Given the description of an element on the screen output the (x, y) to click on. 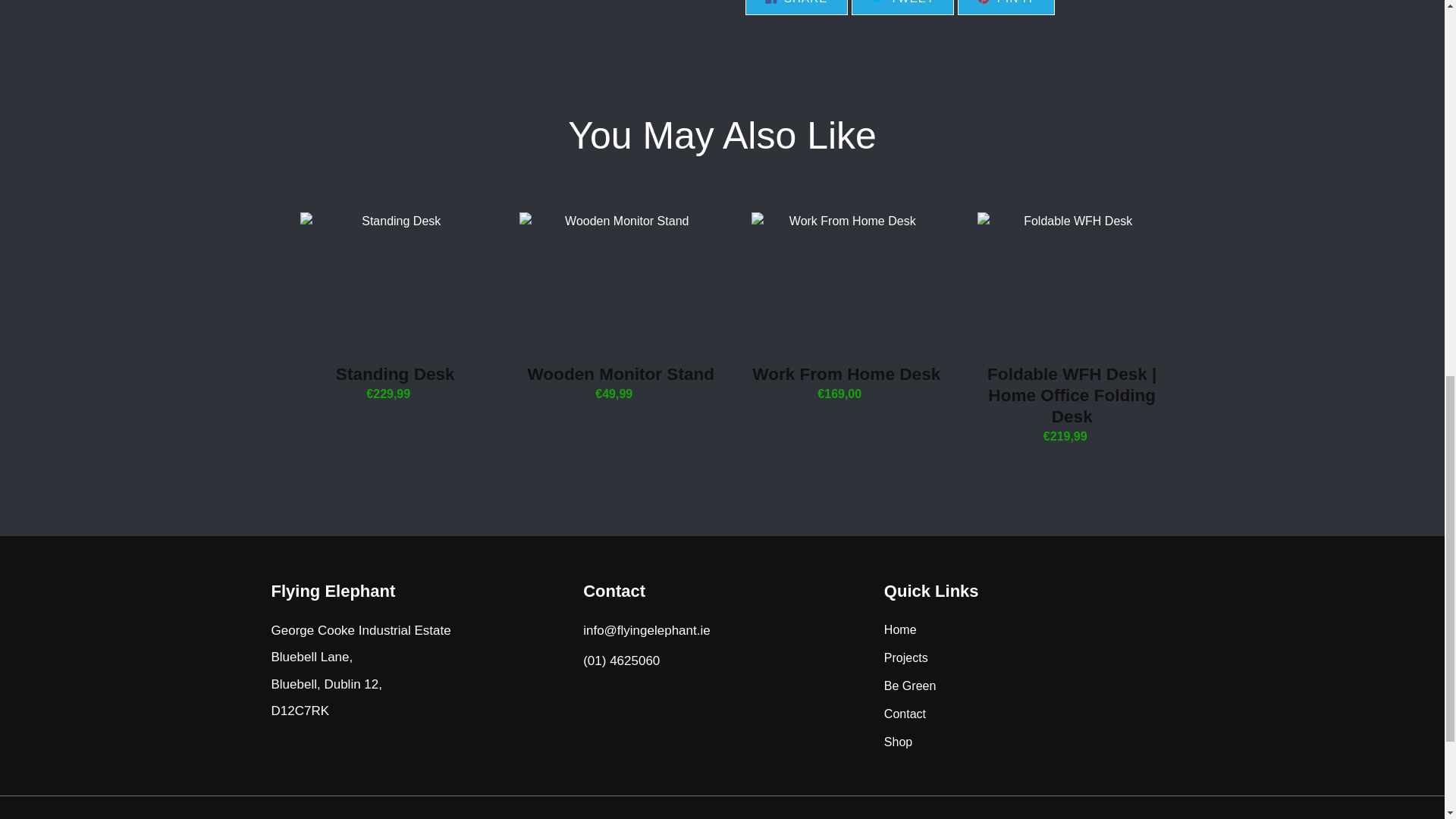
Wooden Monitor Stand (620, 307)
Work From Home Desk (795, 7)
Standing Desk (1006, 7)
tel:14625060 (845, 307)
